Given the description of an element on the screen output the (x, y) to click on. 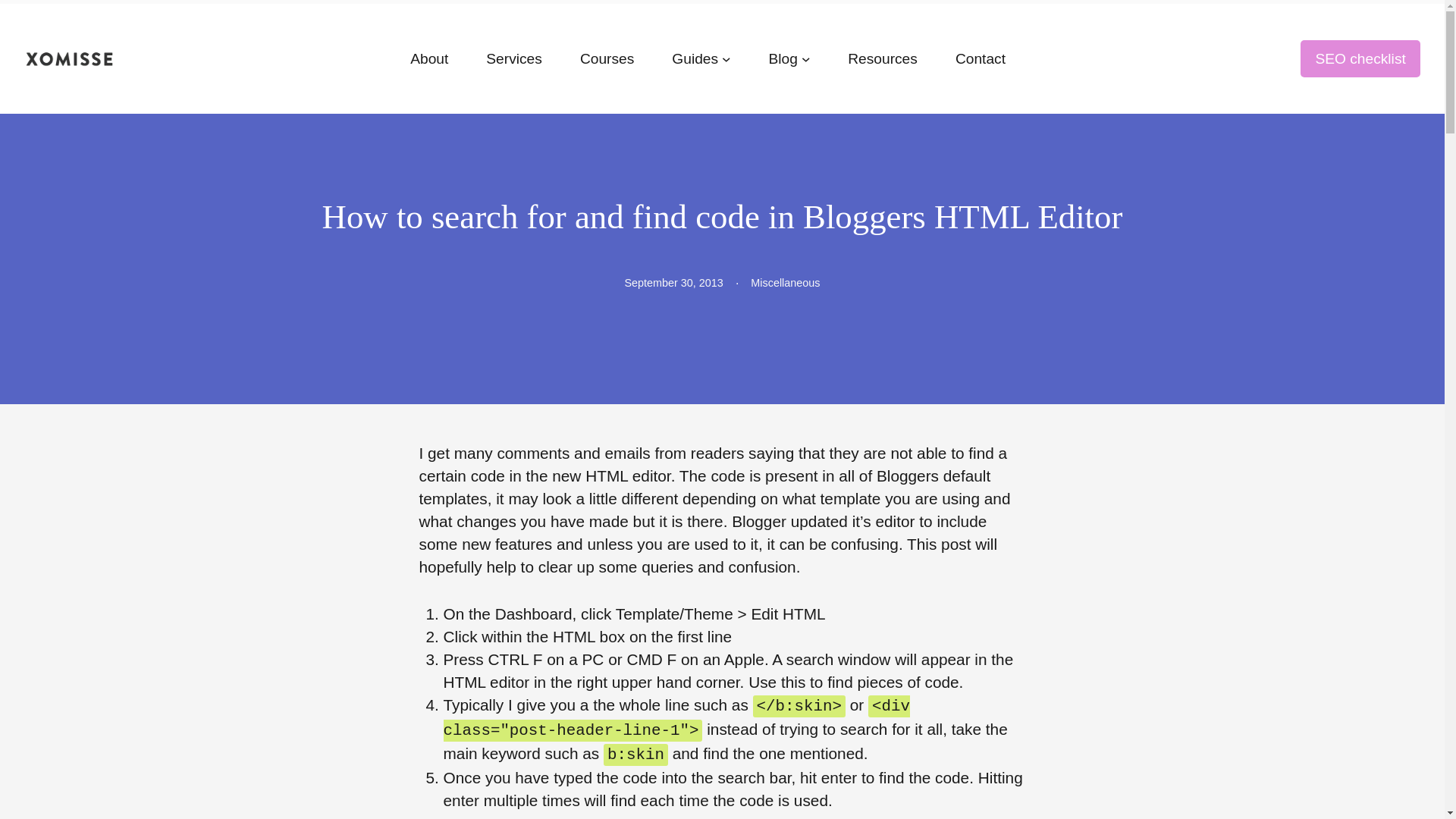
Miscellaneous (785, 282)
Contact (980, 58)
Services (513, 58)
Guides (694, 58)
Blog Articles (782, 58)
Blog (782, 58)
SEO checklist (1360, 58)
About (429, 58)
Services (513, 58)
Resources (882, 58)
Contact XOmisse (980, 58)
Courses (606, 58)
About (429, 58)
